Given the description of an element on the screen output the (x, y) to click on. 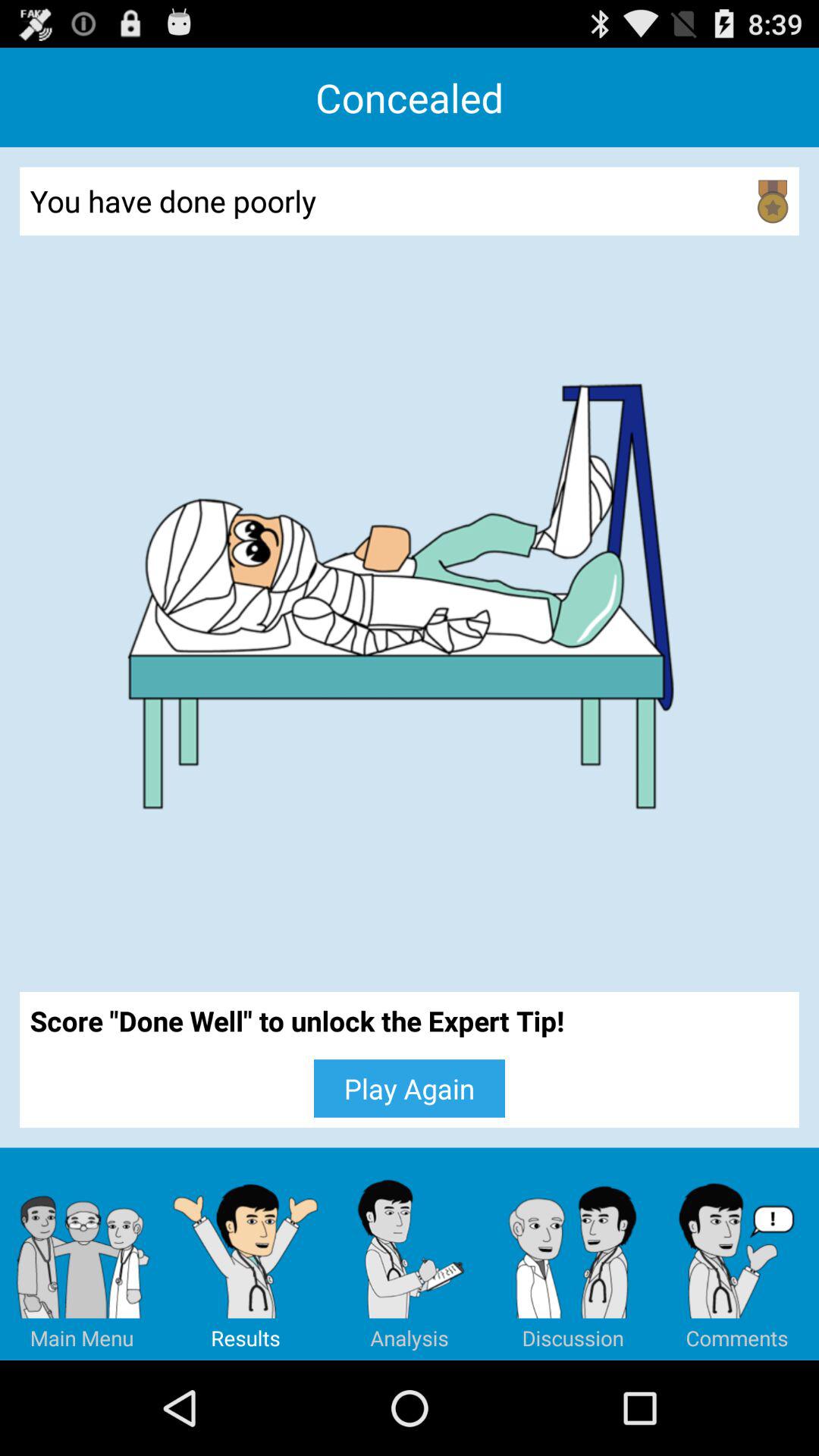
choose icon below the score done well (81, 1253)
